Given the description of an element on the screen output the (x, y) to click on. 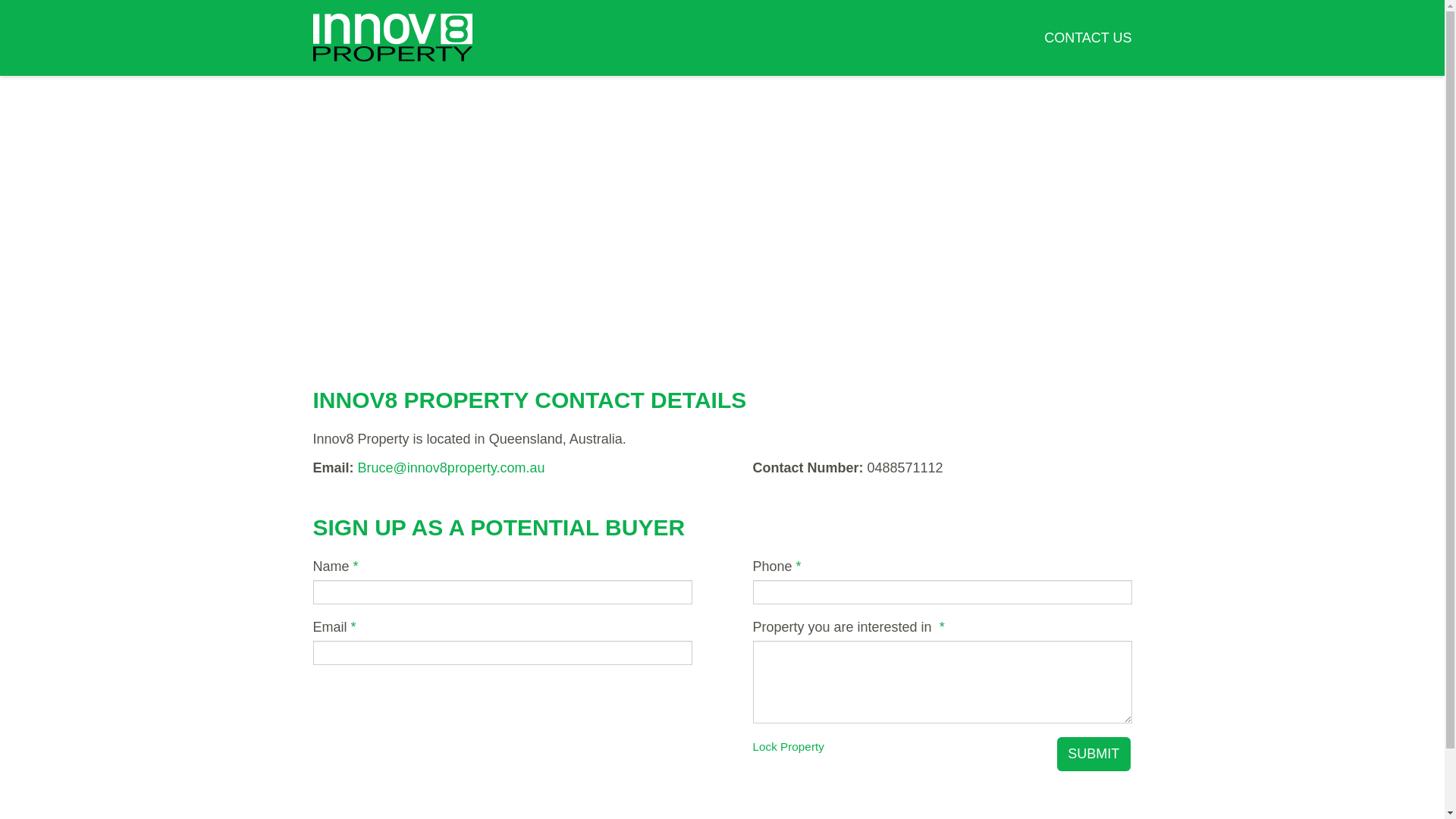
Innov8 Property on the Market Buy platform Element type: hover (391, 37)
Lock Property Element type: text (787, 746)
Submit Element type: text (1093, 754)
Bruce@innov8property.com.au Element type: text (451, 467)
CONTACT US Element type: text (1087, 38)
